Given the description of an element on the screen output the (x, y) to click on. 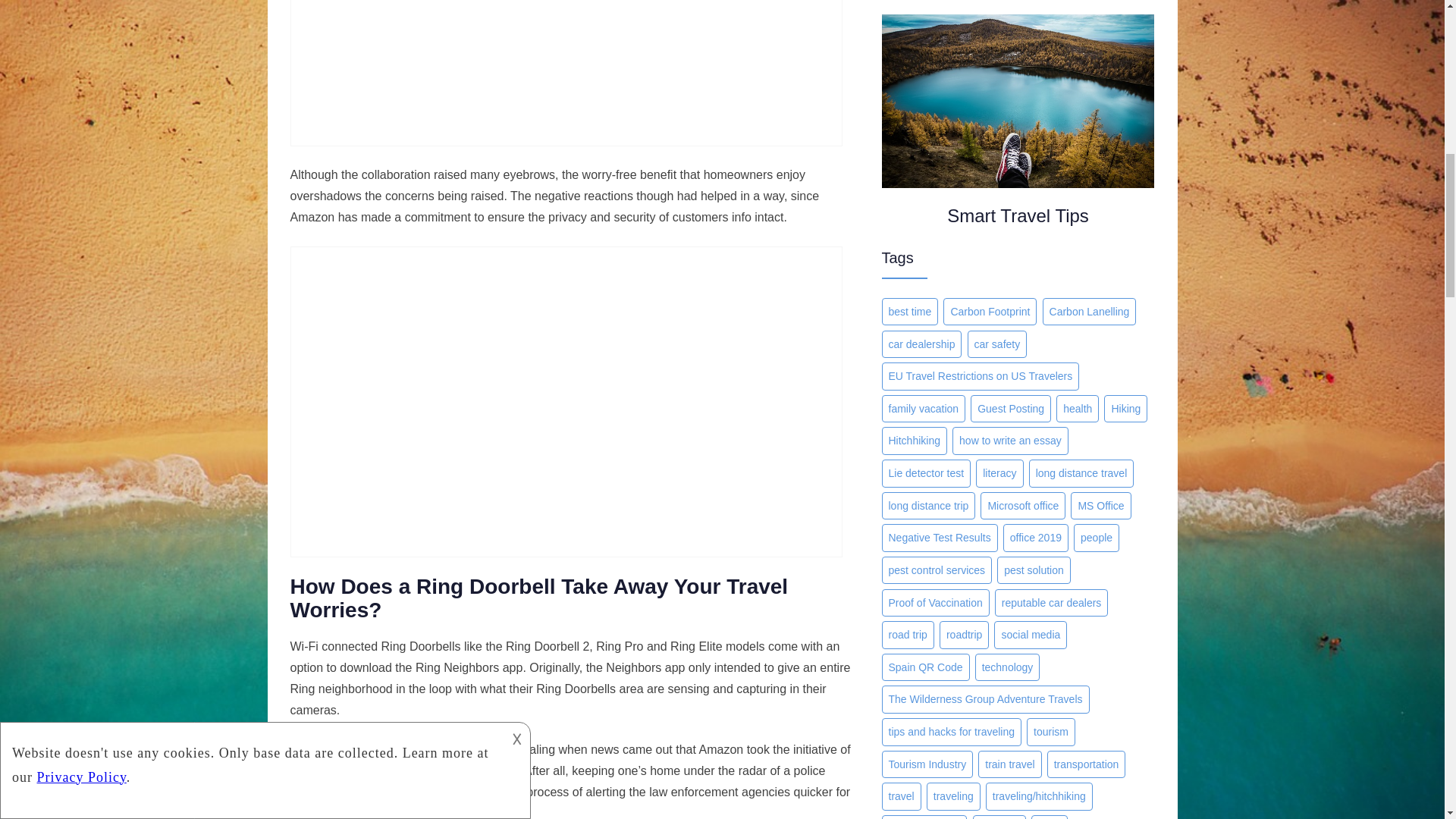
health (1078, 408)
car safety (997, 344)
Carbon Footprint (989, 311)
EU Travel Restrictions on US Travelers (979, 376)
Guest Posting (1011, 408)
Carbon Lanelling (1089, 311)
best time (908, 311)
Ring Helps Reduce Crime in Local Neighborhoods (565, 73)
car dealership (920, 344)
family vacation (922, 408)
